Given the description of an element on the screen output the (x, y) to click on. 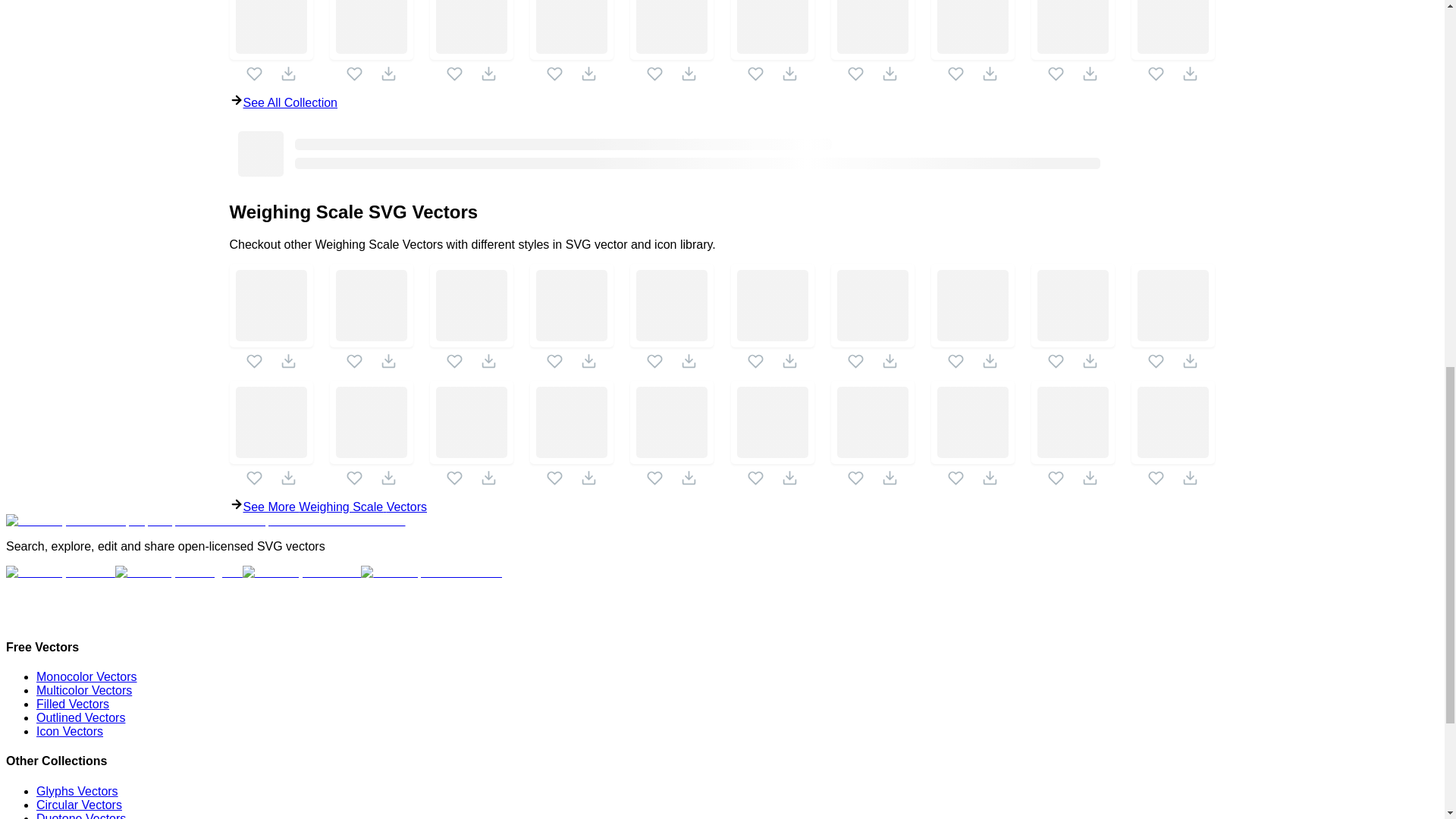
Like undefined SVG File (654, 73)
Multicolor Vectors (84, 689)
Icon Vectors (69, 730)
Duotone Vectors (80, 815)
Like undefined SVG File (454, 73)
See All Collection (721, 101)
Filled Vectors (72, 703)
Circular Vectors (79, 804)
Glyphs Vectors (76, 790)
See More Weighing Scale Vectors (721, 505)
Monocolor Vectors (86, 676)
Outlined Vectors (80, 717)
Like undefined SVG File (254, 73)
Like undefined SVG File (755, 73)
Like undefined SVG File (554, 73)
